Given the description of an element on the screen output the (x, y) to click on. 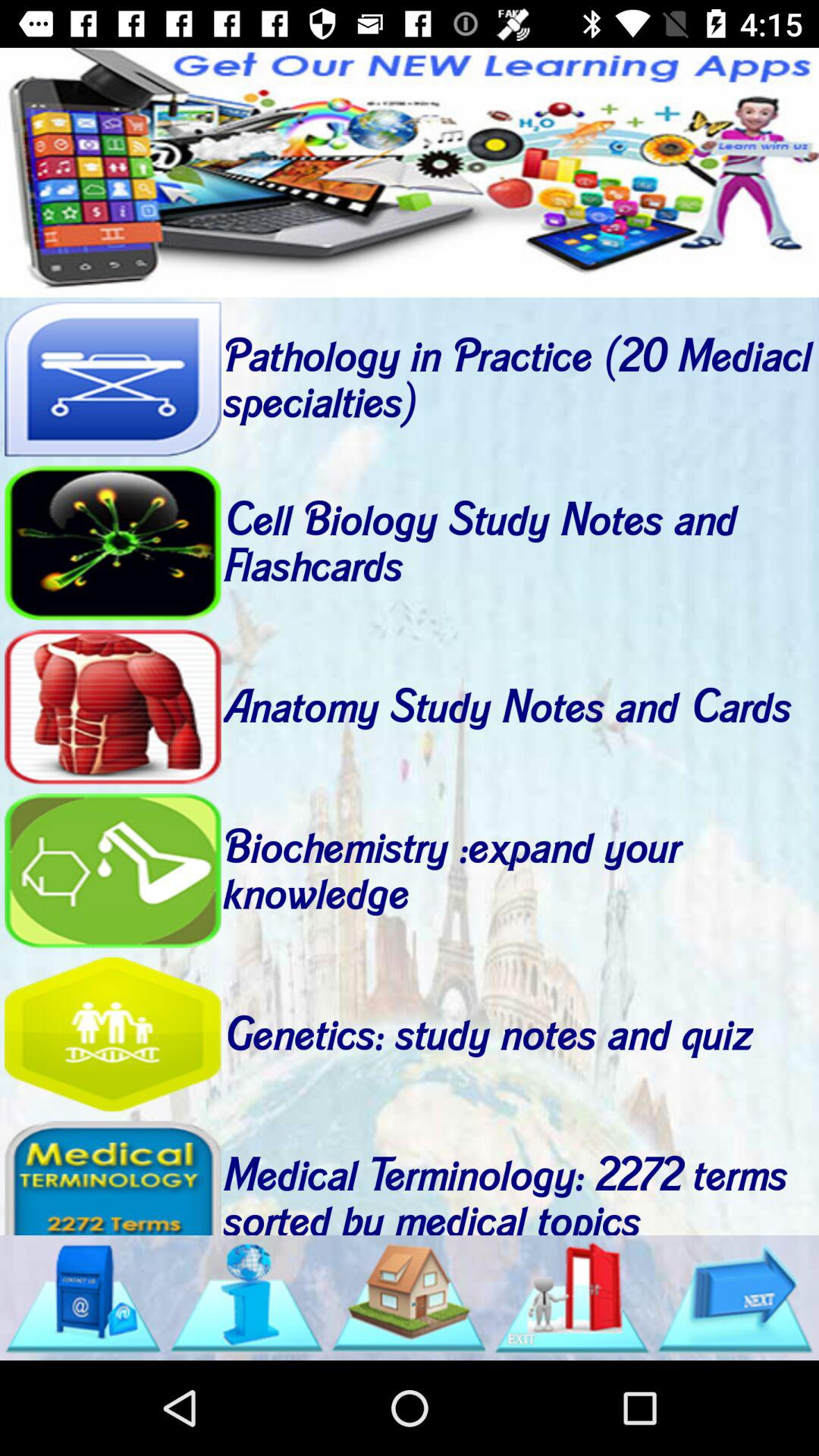
study biochemistry (112, 870)
